Given the description of an element on the screen output the (x, y) to click on. 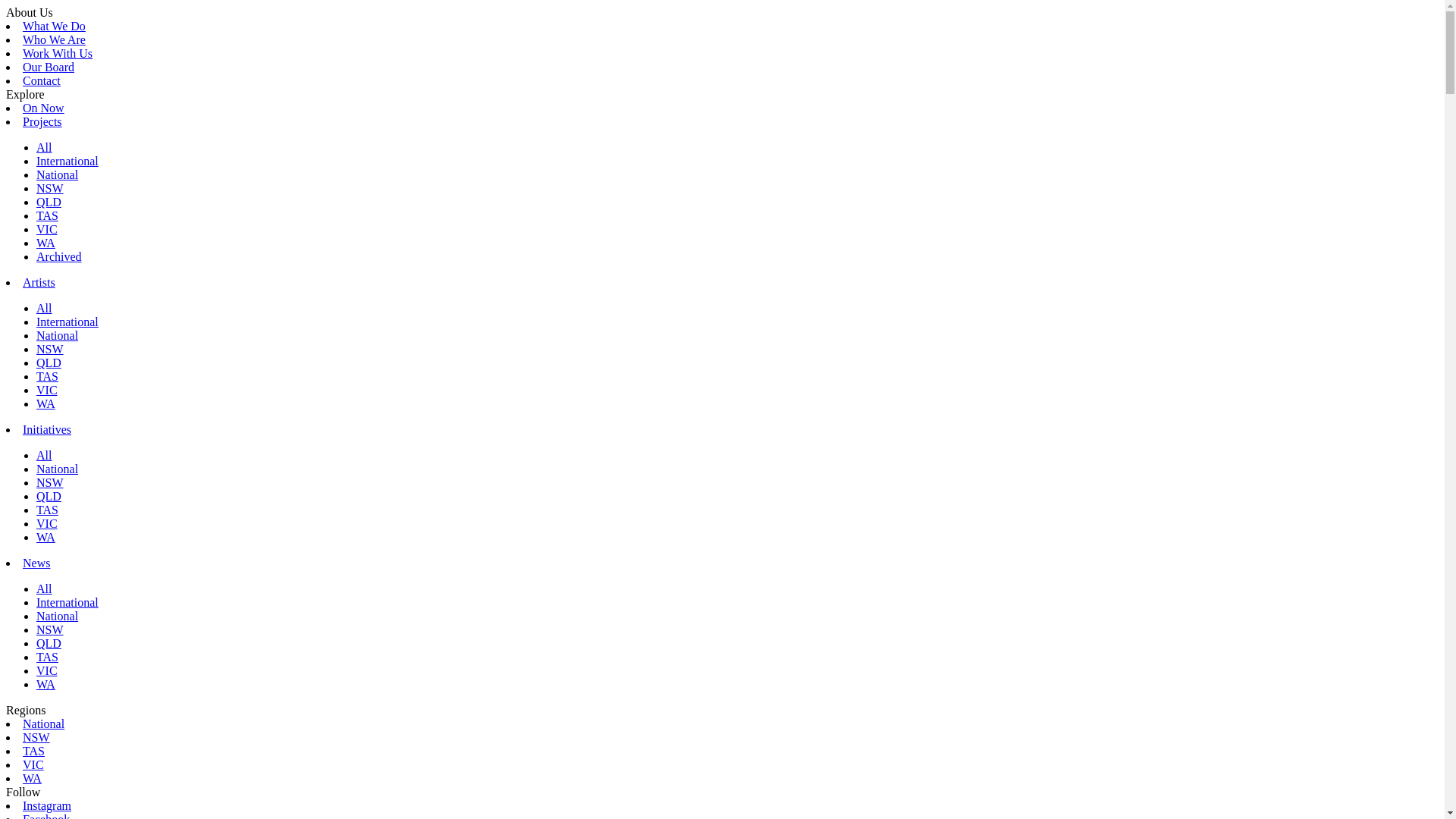
National Element type: text (57, 335)
National Element type: text (57, 615)
Contact Element type: text (41, 80)
National Element type: text (57, 174)
International Element type: text (67, 602)
Work With Us Element type: text (57, 53)
News Element type: text (36, 562)
Who We Are Element type: text (53, 39)
WA Element type: text (45, 242)
Projects Element type: text (42, 121)
NSW Element type: text (49, 188)
VIC Element type: text (46, 389)
Artists Element type: text (38, 282)
NSW Element type: text (36, 737)
QLD Element type: text (48, 643)
VIC Element type: text (32, 764)
TAS Element type: text (47, 215)
WA Element type: text (31, 777)
WA Element type: text (45, 536)
International Element type: text (67, 160)
National Element type: text (57, 468)
NSW Element type: text (49, 629)
TAS Element type: text (47, 376)
National Element type: text (43, 723)
Instagram Element type: text (46, 805)
Archived Element type: text (58, 256)
On Now Element type: text (43, 107)
NSW Element type: text (49, 348)
All Element type: text (43, 454)
QLD Element type: text (48, 362)
TAS Element type: text (47, 656)
Initiatives Element type: text (46, 429)
What We Do Element type: text (53, 25)
All Element type: text (43, 307)
Our Board Element type: text (48, 66)
TAS Element type: text (33, 750)
VIC Element type: text (46, 523)
TAS Element type: text (47, 509)
NSW Element type: text (49, 482)
QLD Element type: text (48, 201)
International Element type: text (67, 321)
VIC Element type: text (46, 670)
All Element type: text (43, 588)
All Element type: text (43, 147)
QLD Element type: text (48, 495)
VIC Element type: text (46, 228)
WA Element type: text (45, 403)
WA Element type: text (45, 683)
